Given the description of an element on the screen output the (x, y) to click on. 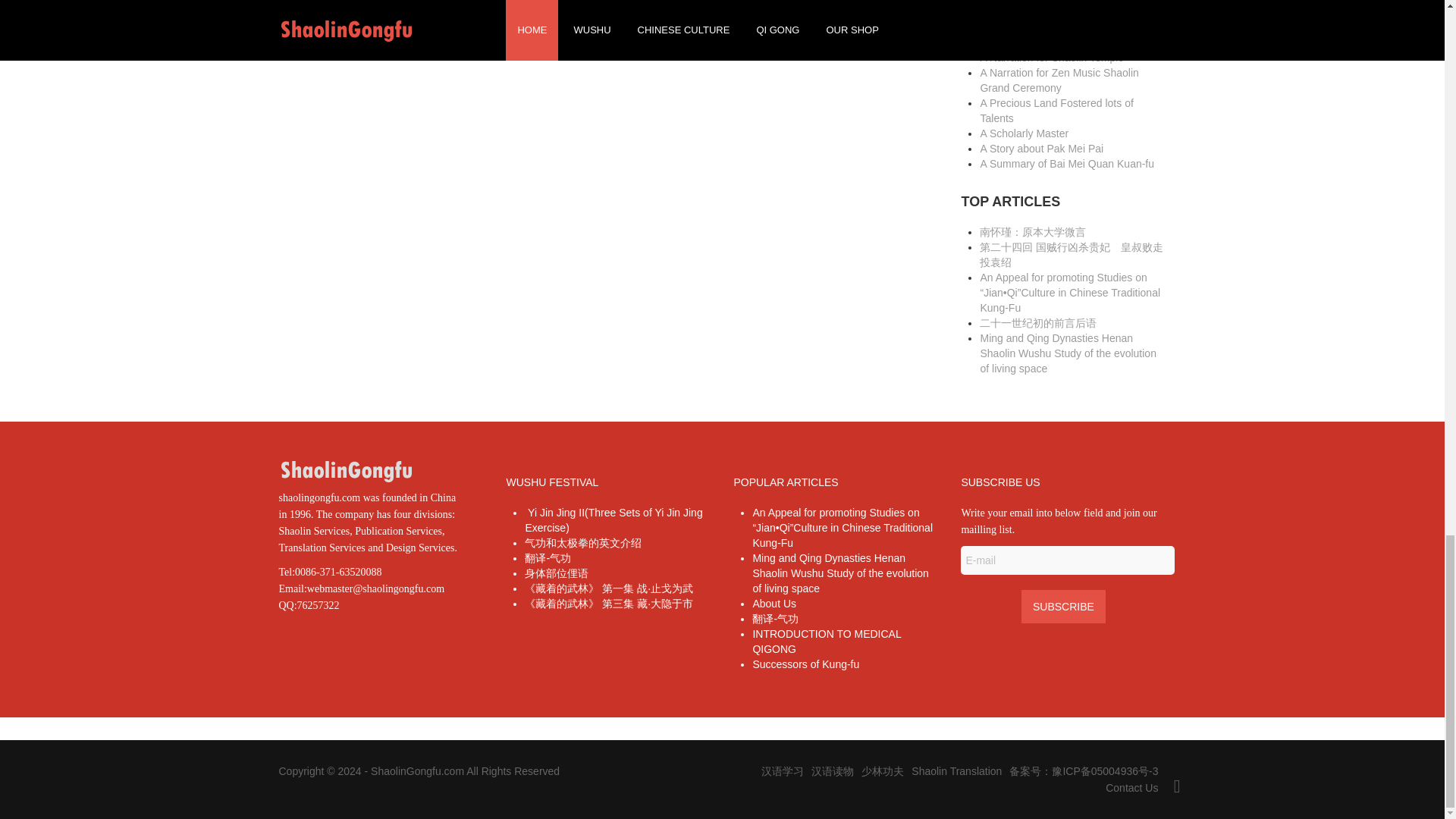
E-mail (1067, 560)
E-mail (1067, 560)
Subscribe (1063, 606)
